Given the description of an element on the screen output the (x, y) to click on. 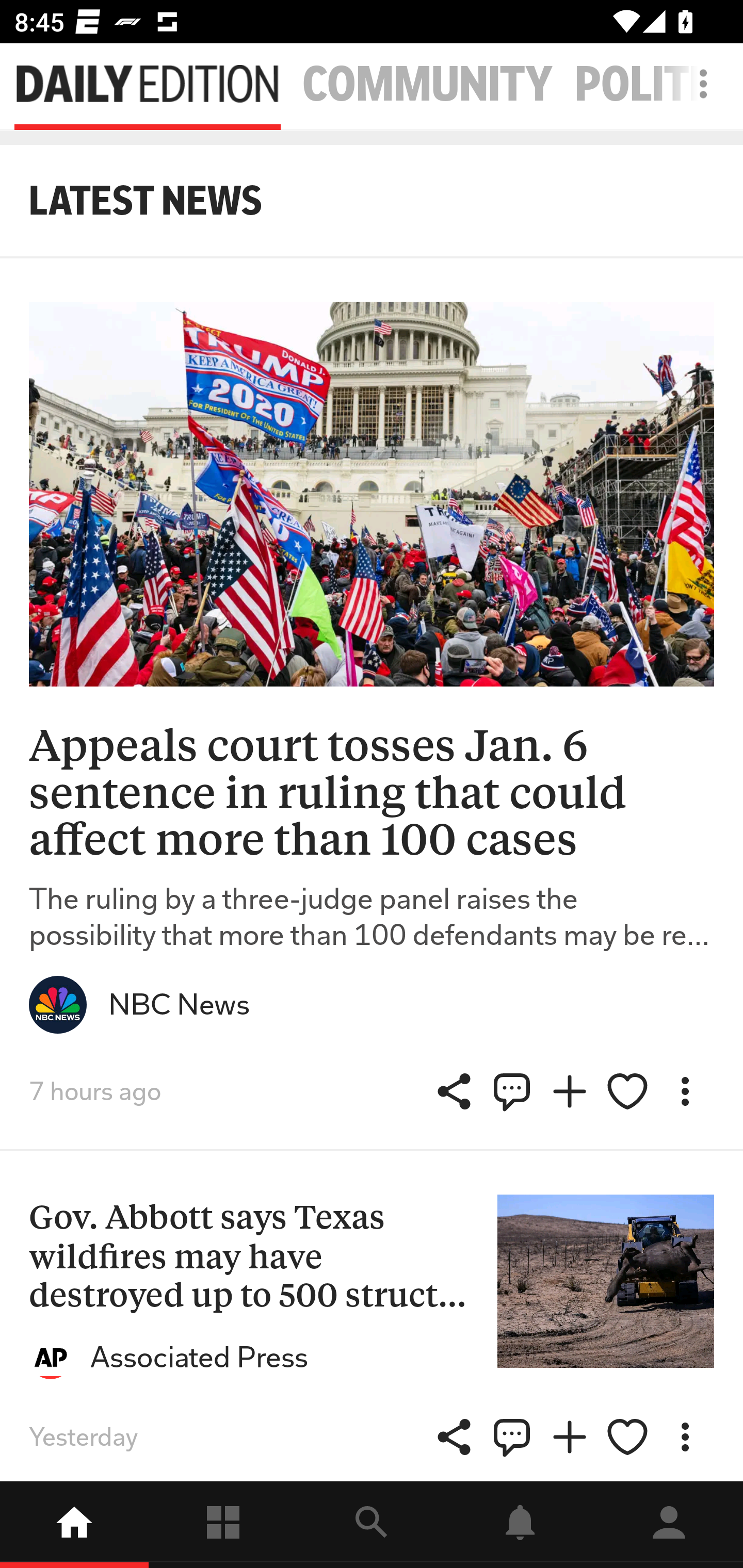
COMMUNITY (427, 84)
POLITICS (659, 84)
Edit Home (697, 83)
Share (453, 1091)
Share (511, 1091)
Flip into Magazine (569, 1091)
Like (627, 1091)
Options (685, 1091)
Share (453, 1437)
Share (511, 1437)
Flip into Magazine (569, 1437)
Like (627, 1437)
Options (685, 1437)
home (74, 1524)
Following (222, 1524)
explore (371, 1524)
Notifications (519, 1524)
Profile (668, 1524)
